Given the description of an element on the screen output the (x, y) to click on. 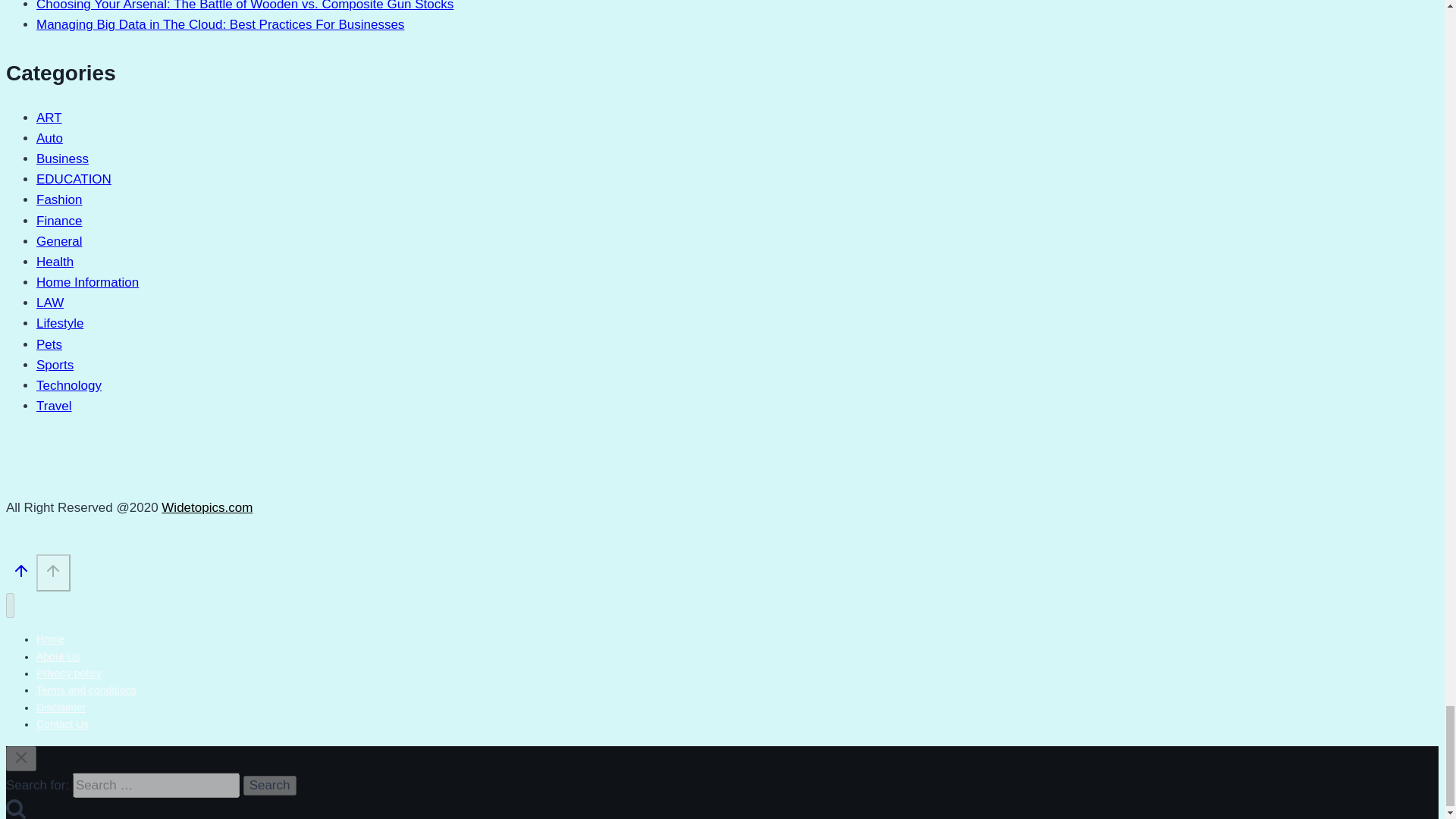
Search (270, 785)
Scroll to top (20, 570)
Search (270, 785)
Scroll to top (52, 572)
Scroll to top (20, 574)
Scroll to top (52, 570)
Toggle Menu Close (20, 757)
